Given the description of an element on the screen output the (x, y) to click on. 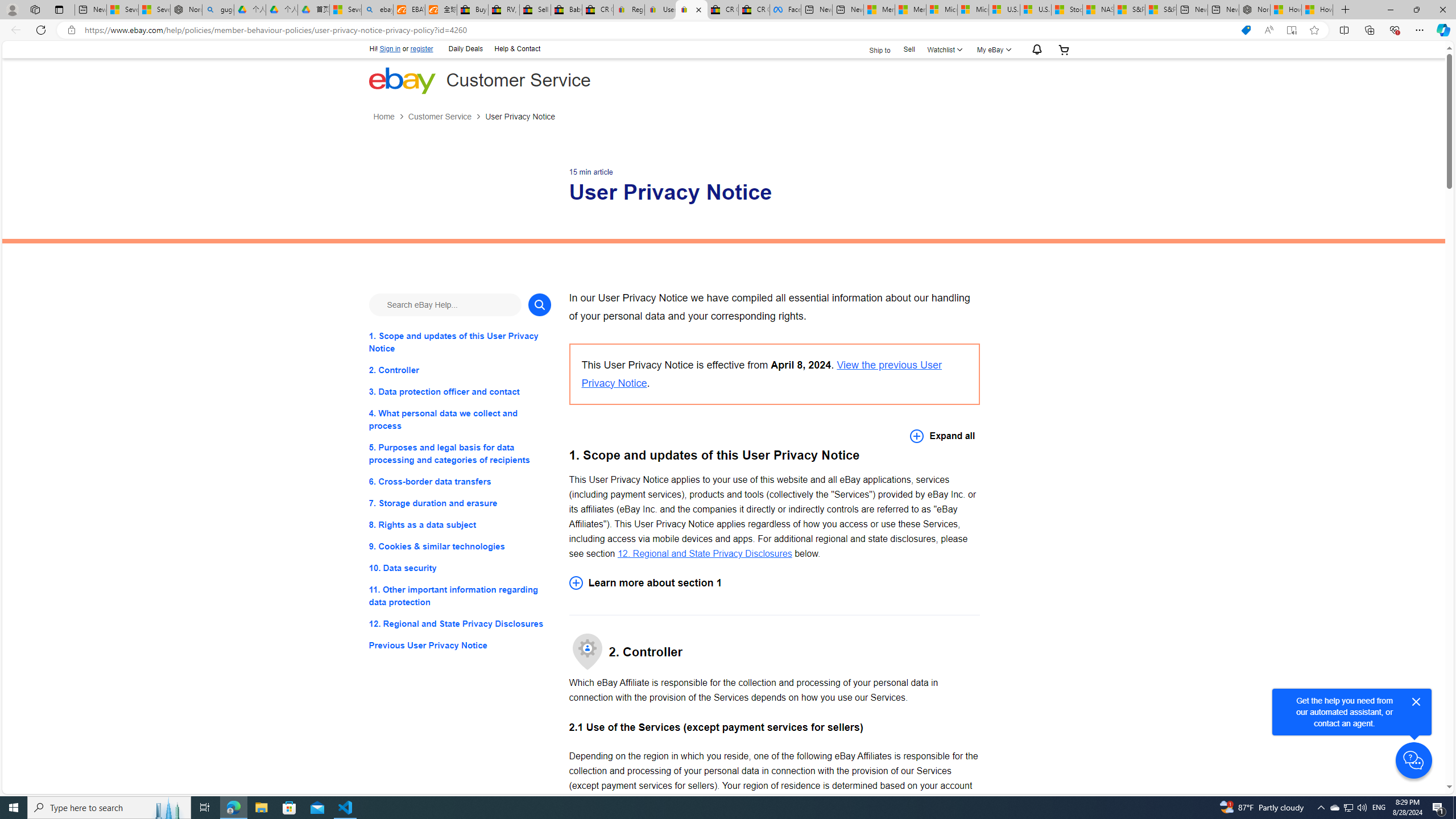
4. What personal data we collect and process (459, 419)
guge yunpan - Search (218, 9)
Daily Deals (465, 49)
Sell (908, 49)
Help & Contact (516, 49)
10. Data security (459, 567)
1. Scope and updates of this User Privacy Notice (459, 341)
1. Scope and updates of this User Privacy Notice (459, 341)
3. Data protection officer and contact (459, 391)
